Given the description of an element on the screen output the (x, y) to click on. 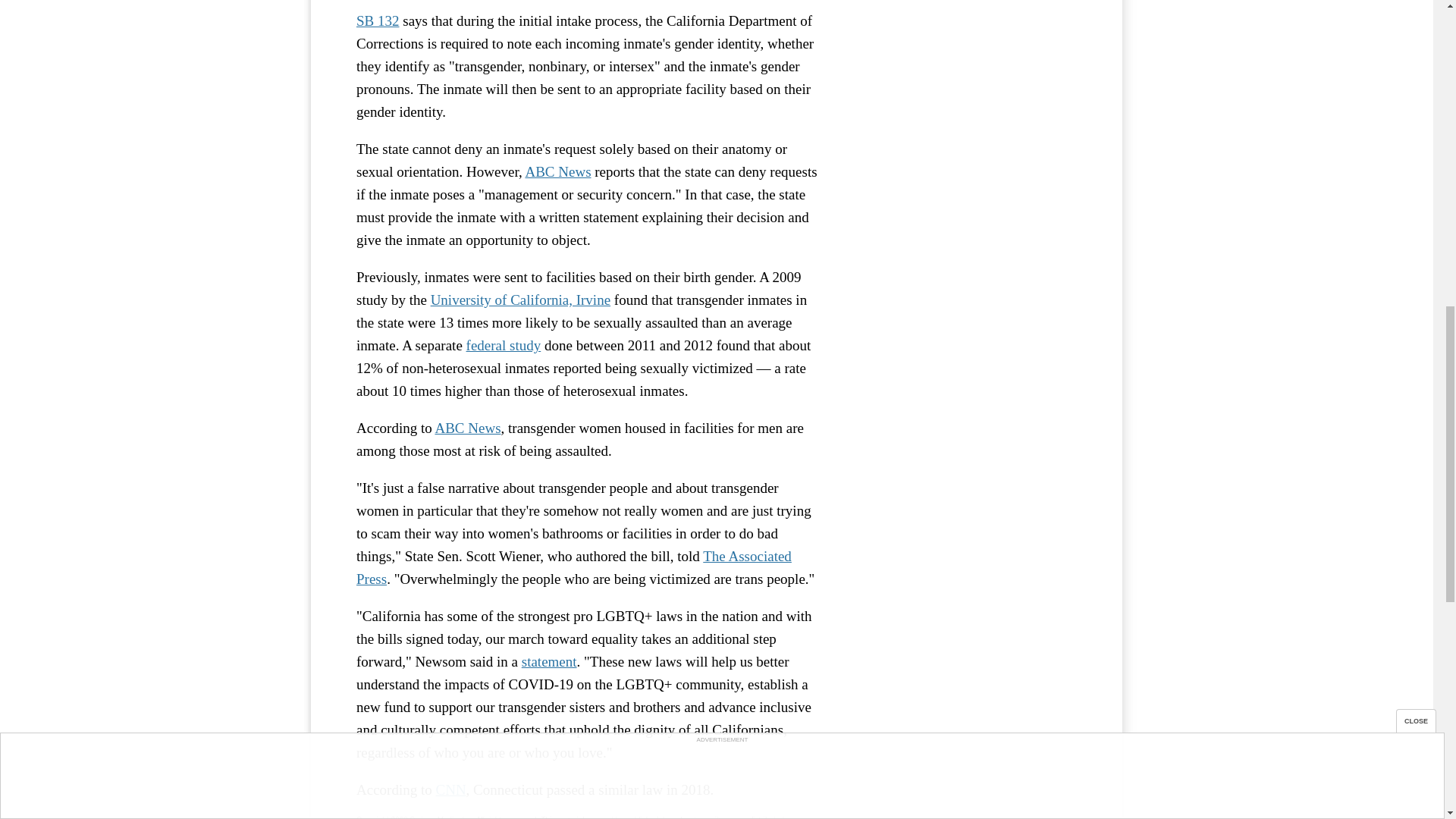
3rd party ad content (962, 56)
